Given the description of an element on the screen output the (x, y) to click on. 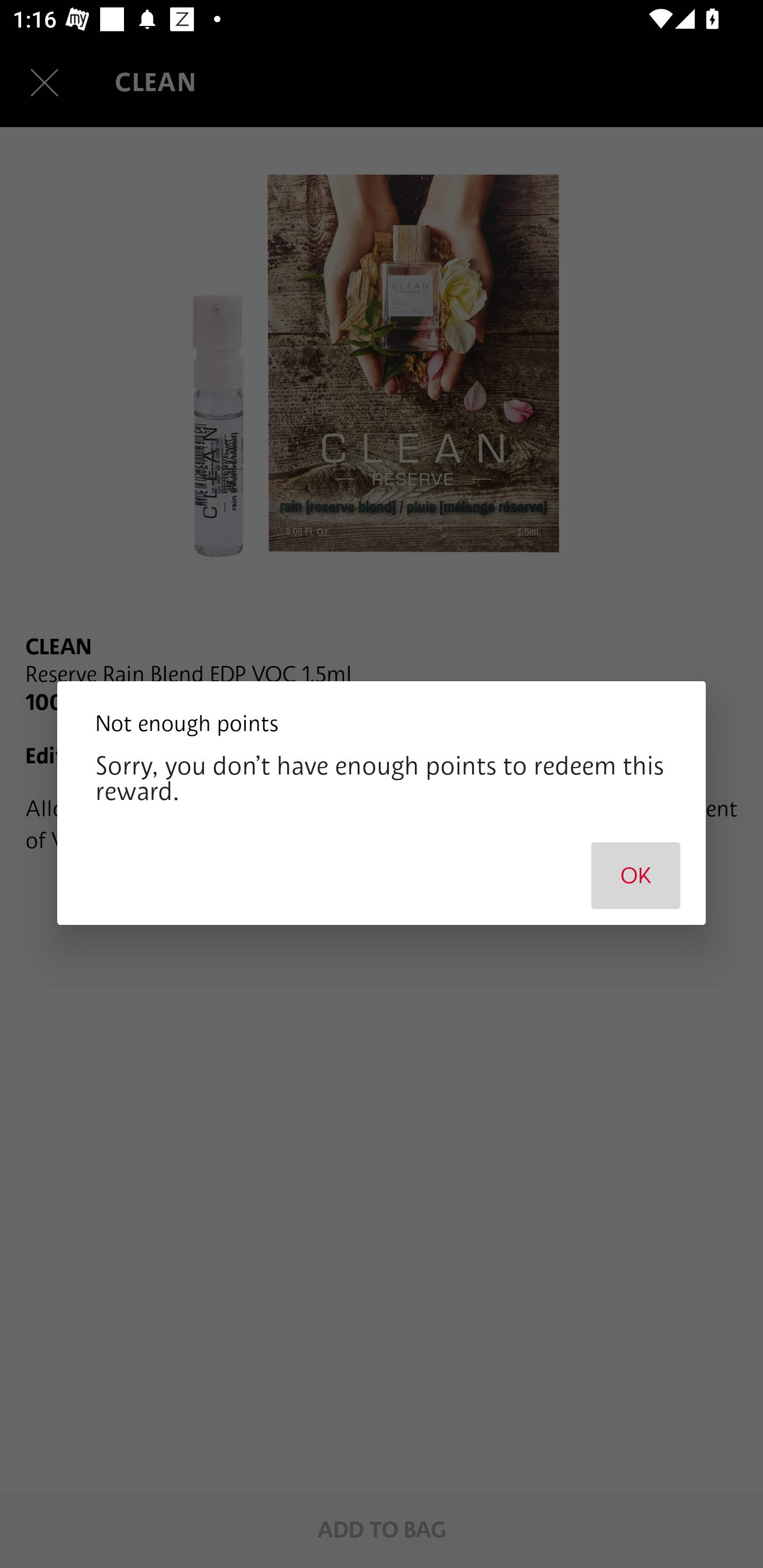
OK (635, 875)
